Given the description of an element on the screen output the (x, y) to click on. 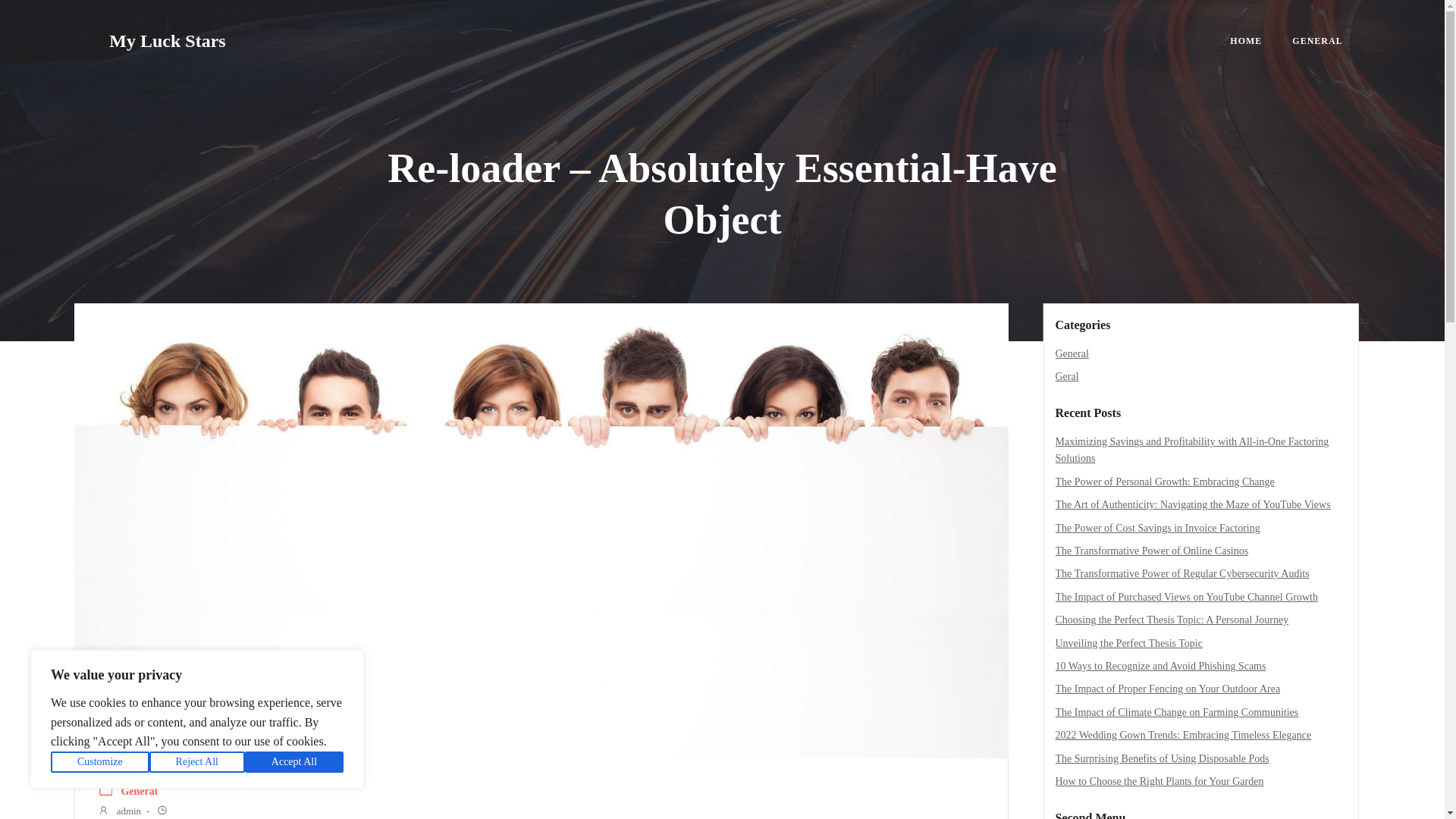
admin (119, 811)
The Power of Personal Growth: Embracing Change (1165, 481)
General (138, 791)
Reject All (196, 762)
My Luck Stars (167, 40)
Customize (99, 762)
General (1072, 353)
GENERAL (1317, 40)
Accept All (293, 762)
Geral (1066, 376)
HOME (1246, 40)
